Given the description of an element on the screen output the (x, y) to click on. 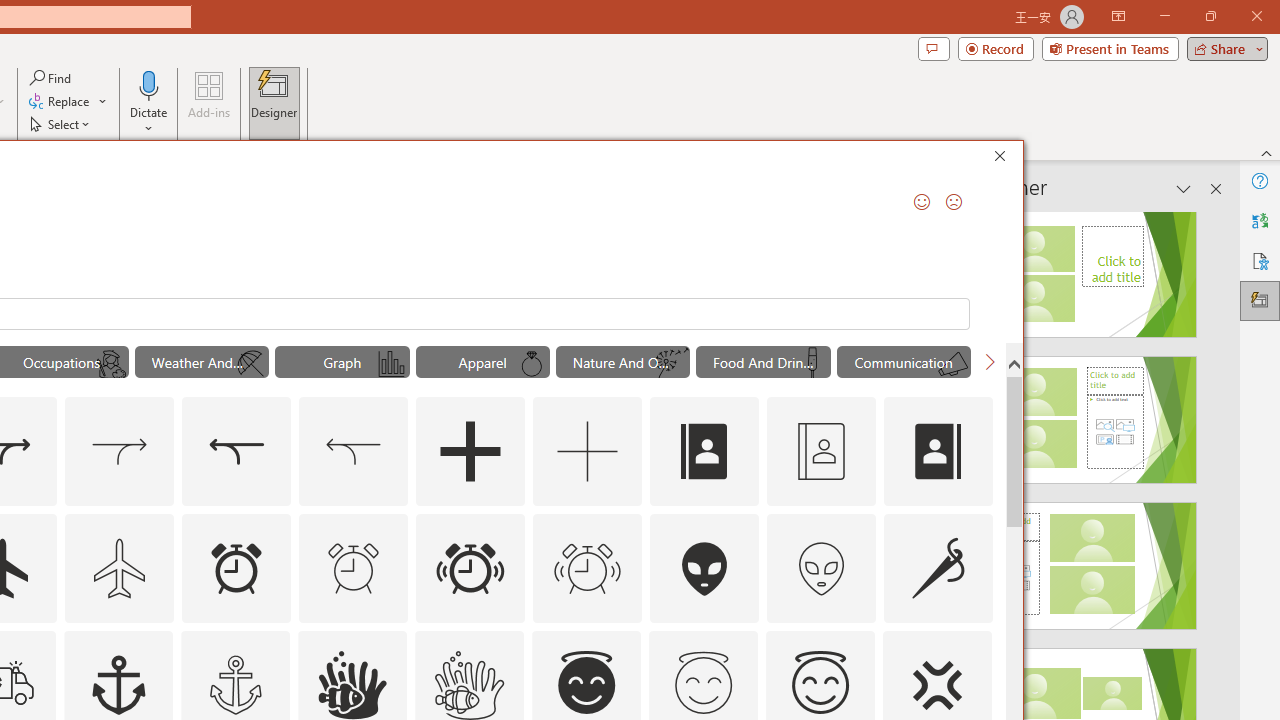
AutomationID: Icons_BeachUmbrella_M (250, 364)
AutomationID: Icons_BarChart_LTR_M (391, 364)
AutomationID: Icons_AddressBook_LTR (705, 452)
AutomationID: Icons_Add (470, 452)
AutomationID: Icons_Ring_M (532, 364)
"Apparel" Icons. (483, 362)
AutomationID: Icons_AlarmClock (236, 568)
